Given the description of an element on the screen output the (x, y) to click on. 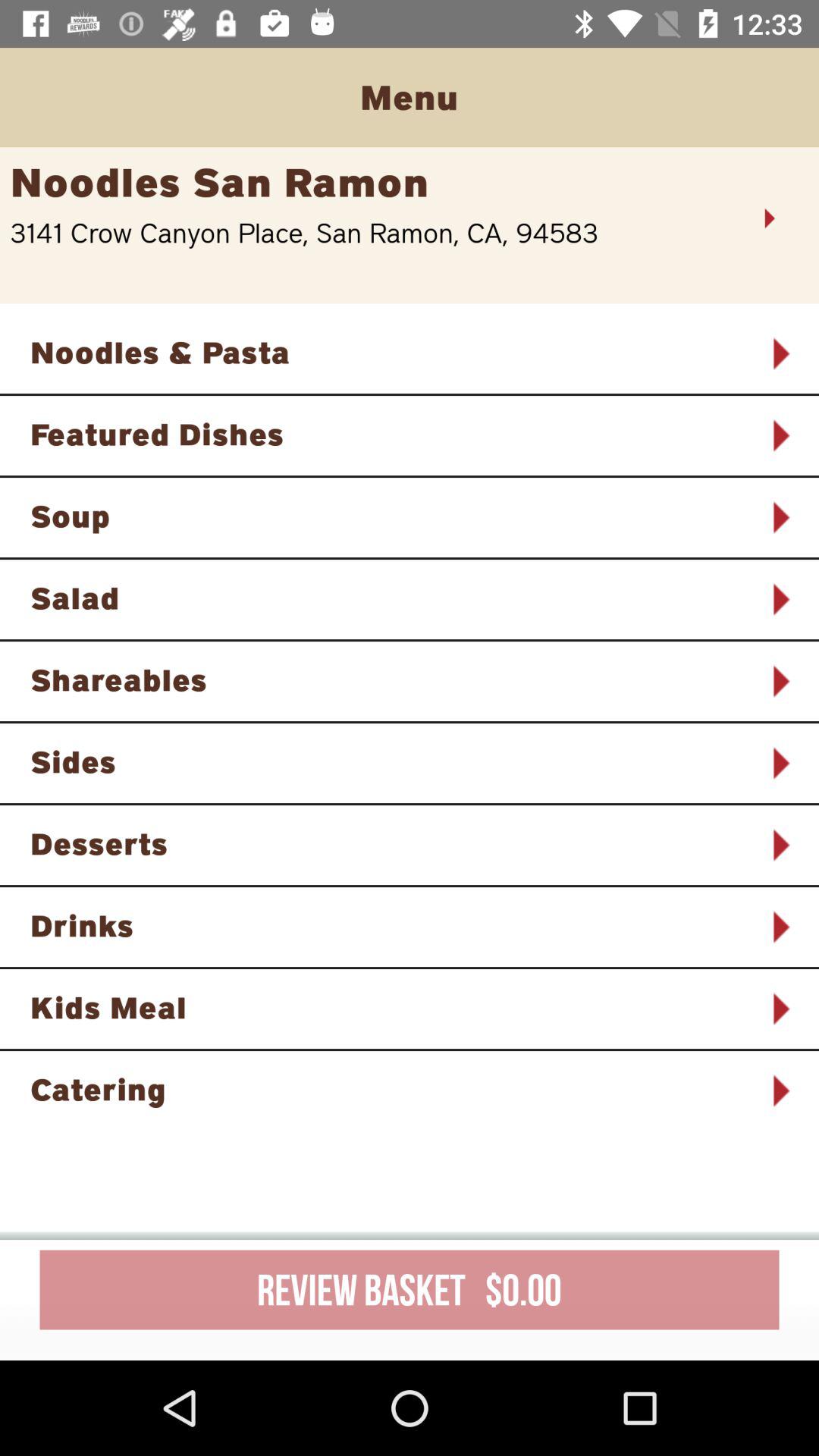
swipe to the soup  item (390, 515)
